Given the description of an element on the screen output the (x, y) to click on. 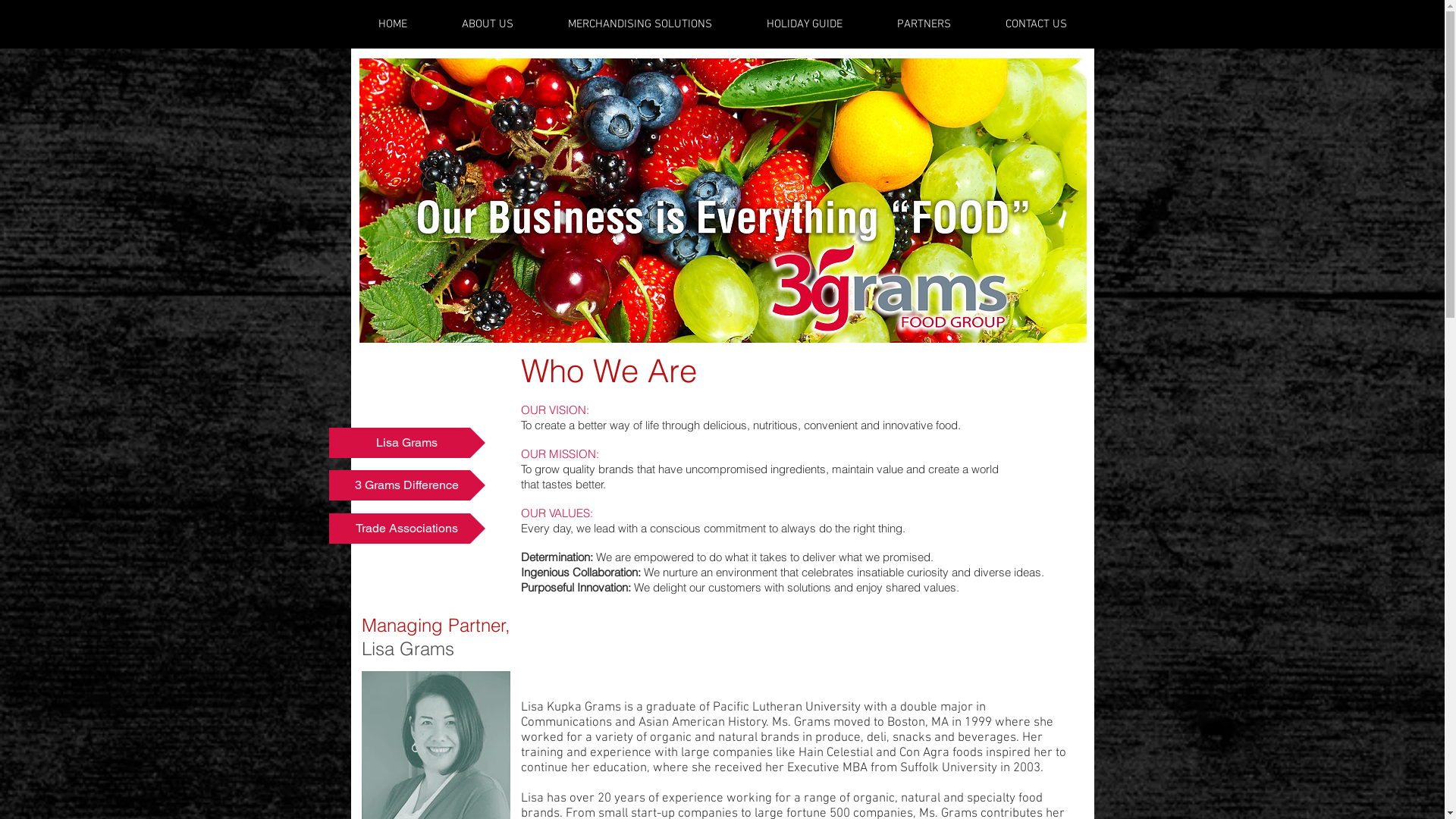
3 Grams Difference Element type: text (407, 485)
Lisa Grams Element type: text (407, 442)
HOLIDAY GUIDE Element type: text (803, 24)
MERCHANDISING SOLUTIONS Element type: text (638, 24)
HOME Element type: text (391, 24)
CONTACT US Element type: text (1036, 24)
ABOUT US Element type: text (486, 24)
Trade Associations Element type: text (407, 528)
PARTNERS Element type: text (923, 24)
